Given the description of an element on the screen output the (x, y) to click on. 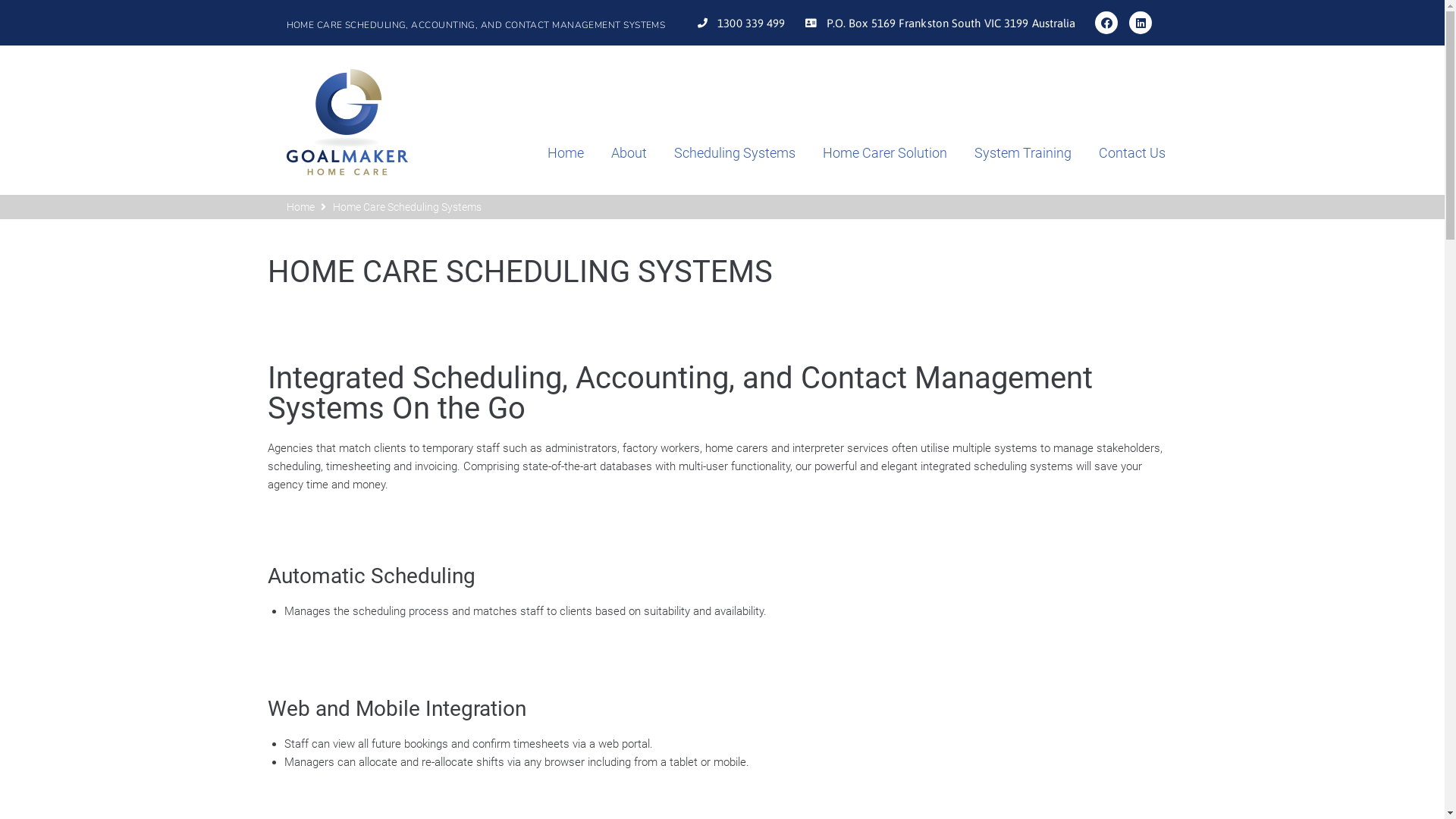
Home Element type: text (551, 153)
Home Element type: text (300, 206)
System Training Element type: text (1009, 153)
Home Carer Solution Element type: text (871, 153)
Scheduling Systems Element type: text (720, 153)
Contact Us Element type: text (1118, 153)
1300 339 499 Element type: text (739, 22)
About Element type: text (614, 153)
